Given the description of an element on the screen output the (x, y) to click on. 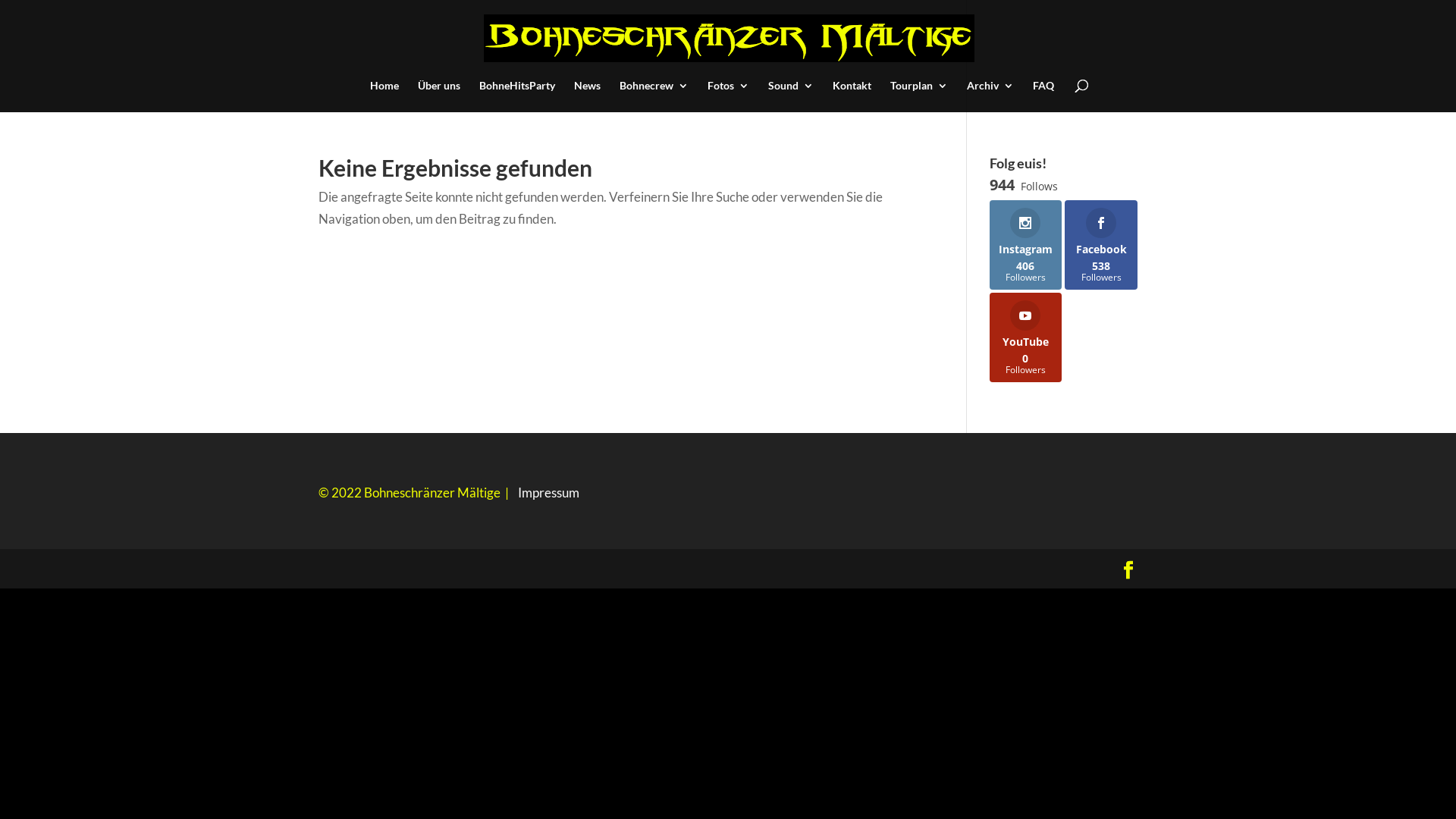
Instagram
406
Followers Element type: text (1025, 244)
Fotos Element type: text (727, 96)
YouTube
0
Followers Element type: text (1025, 337)
Impressum Element type: text (548, 492)
Sound Element type: text (789, 96)
FAQ Element type: text (1043, 96)
BohneHitsParty Element type: text (517, 96)
Kontakt Element type: text (851, 96)
Archiv Element type: text (989, 96)
News Element type: text (586, 96)
Tourplan Element type: text (918, 96)
Bohnecrew Element type: text (652, 96)
Home Element type: text (384, 96)
Facebook
538
Followers Element type: text (1100, 244)
